Given the description of an element on the screen output the (x, y) to click on. 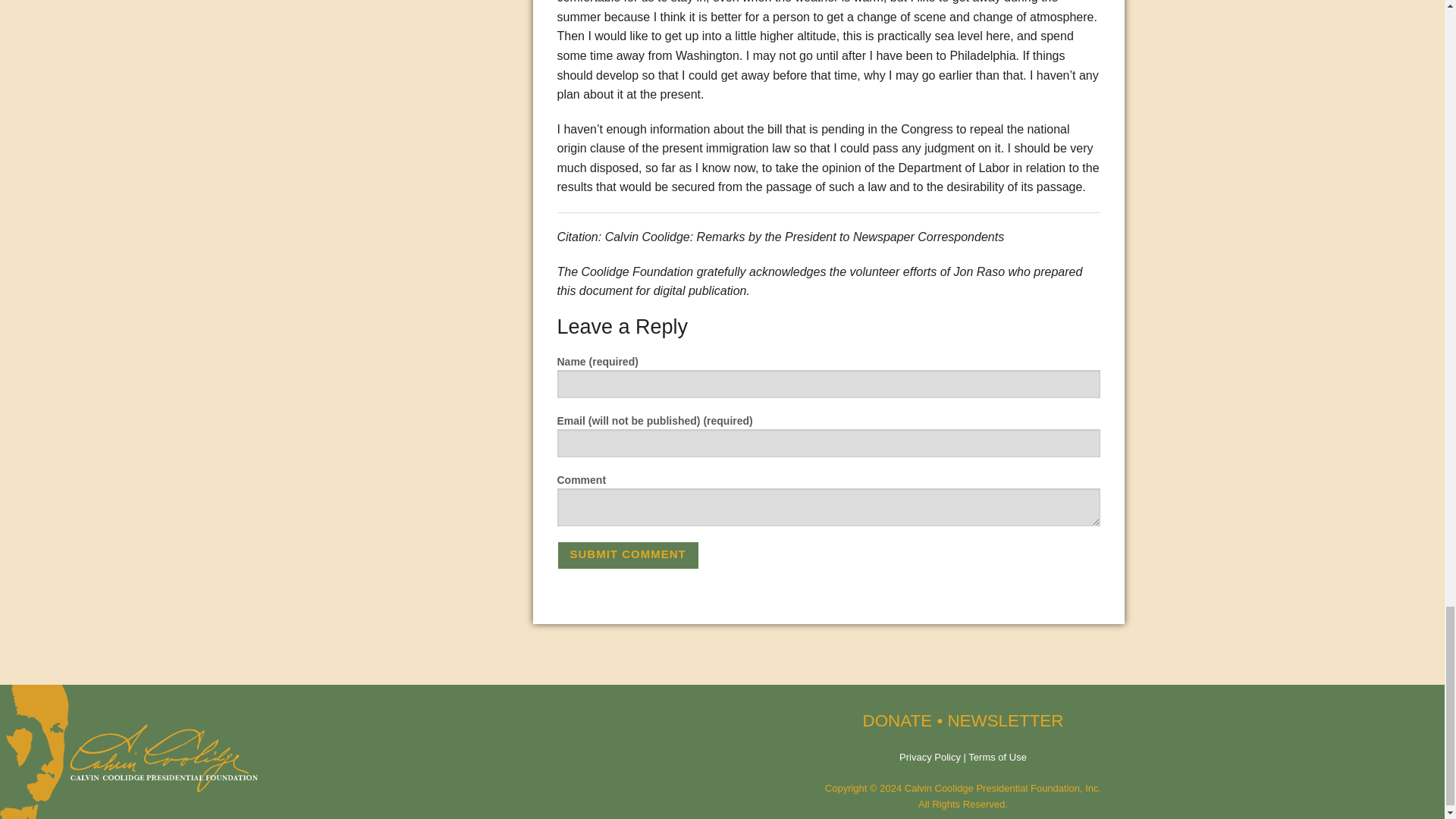
Submit Comment (627, 555)
Privacy Policy (929, 756)
NEWSLETTER (1004, 720)
Terms of Use (997, 756)
Submit Comment (627, 555)
